Given the description of an element on the screen output the (x, y) to click on. 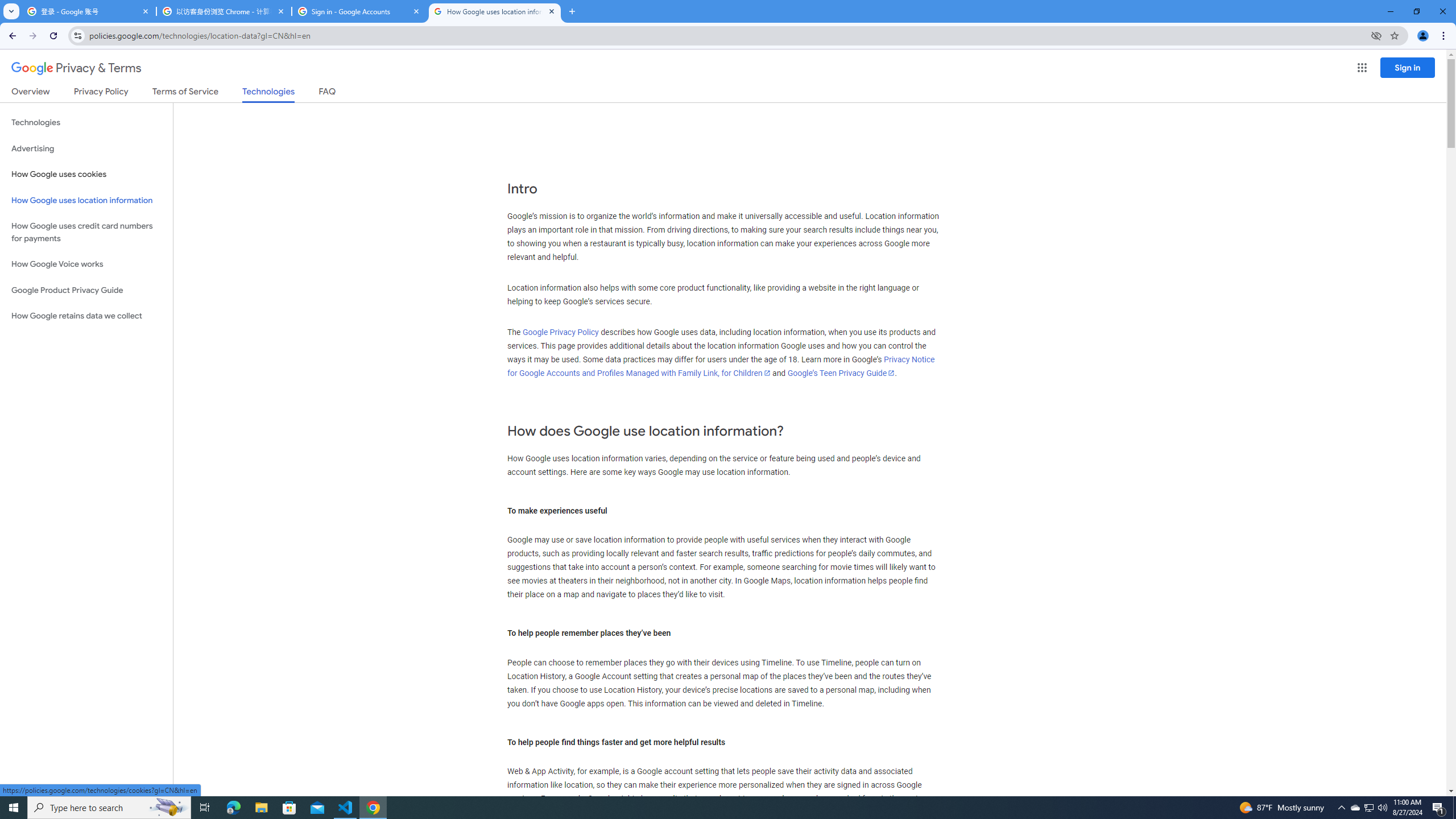
How Google retains data we collect (86, 316)
How Google Voice works (86, 264)
How Google uses credit card numbers for payments (86, 232)
